Given the description of an element on the screen output the (x, y) to click on. 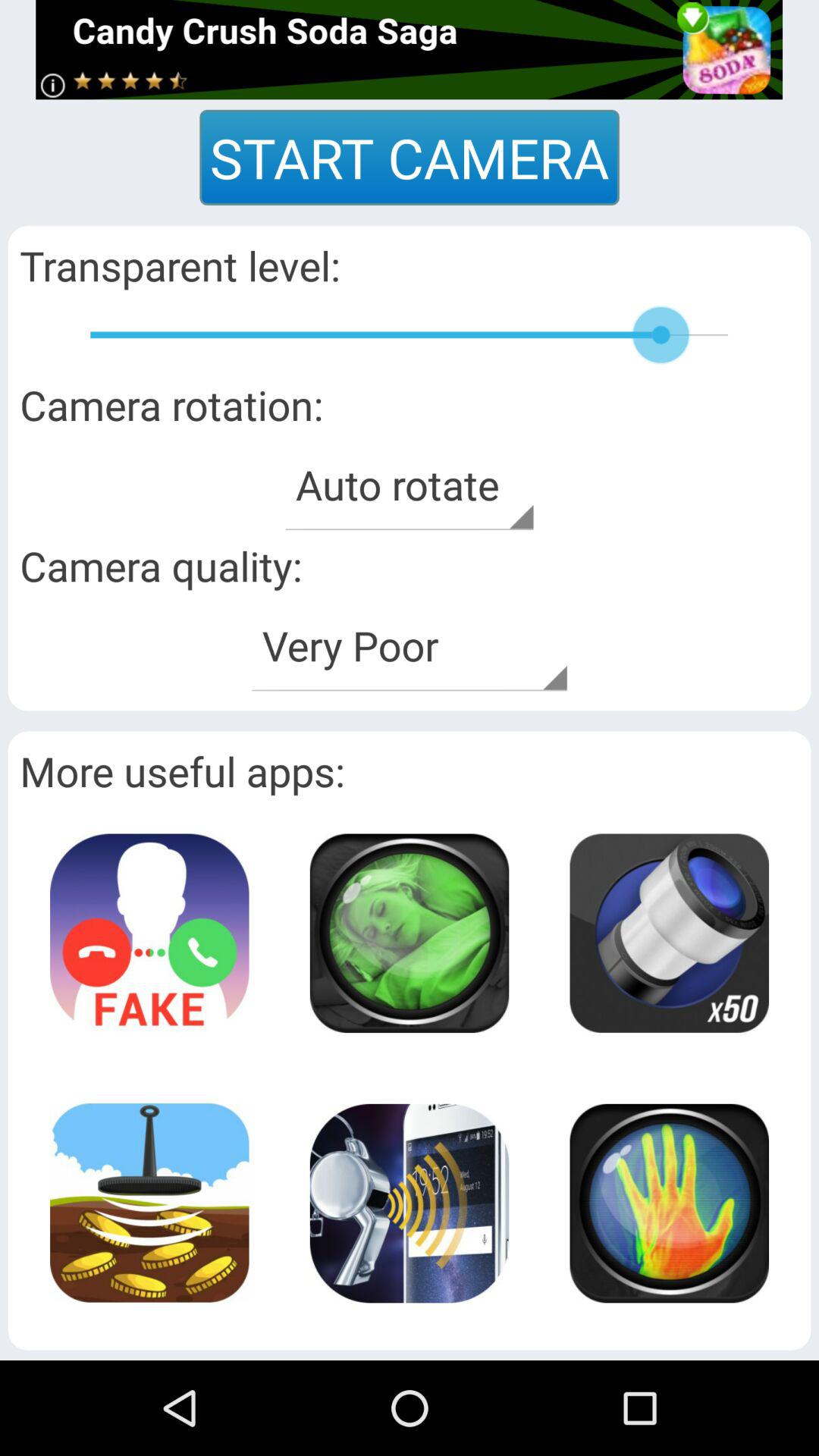
advertisent page (408, 49)
